Given the description of an element on the screen output the (x, y) to click on. 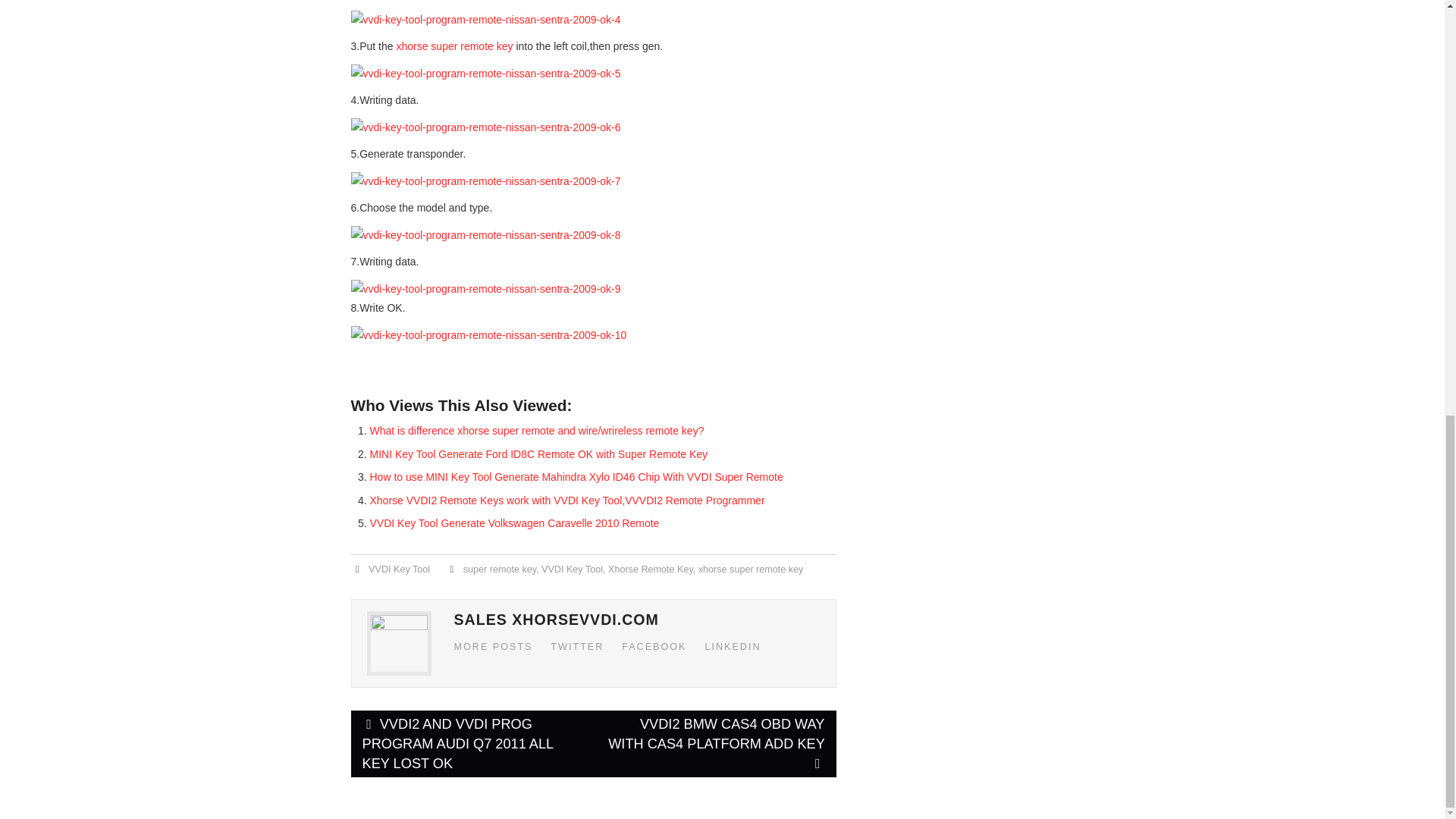
vvdi-key-tool-program-remote-nissan-sentra-2009-ok-9  (485, 289)
vvdi-key-tool-program-remote-nissan-sentra-2009-ok-8  (485, 235)
vvdi-key-tool-program-remote-nissan-sentra-2009-ok-5  (485, 73)
vvdi-key-tool-program-remote-nissan-sentra-2009-ok-7  (485, 180)
vvdi-key-tool-program-remote-nissan-sentra-2009-ok-4  (485, 19)
vvdi-key-tool-program-remote-nissan-sentra-2009-ok-6  (485, 127)
